Given the description of an element on the screen output the (x, y) to click on. 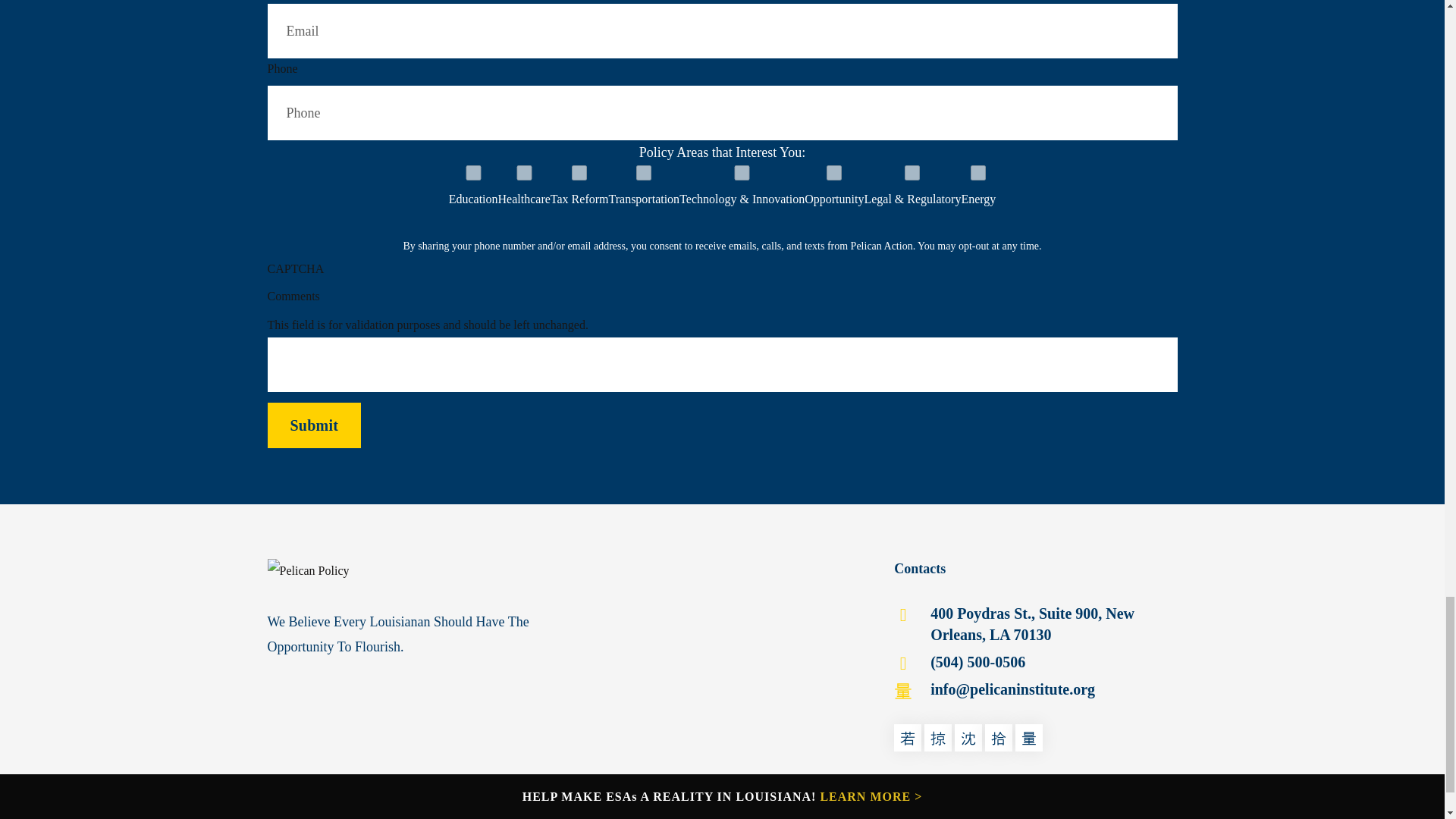
Tax Reform (579, 172)
Healthcare (523, 172)
Opportunity (834, 172)
Transportation (643, 172)
Education (472, 172)
Energy (977, 172)
Submit (313, 424)
